Given the description of an element on the screen output the (x, y) to click on. 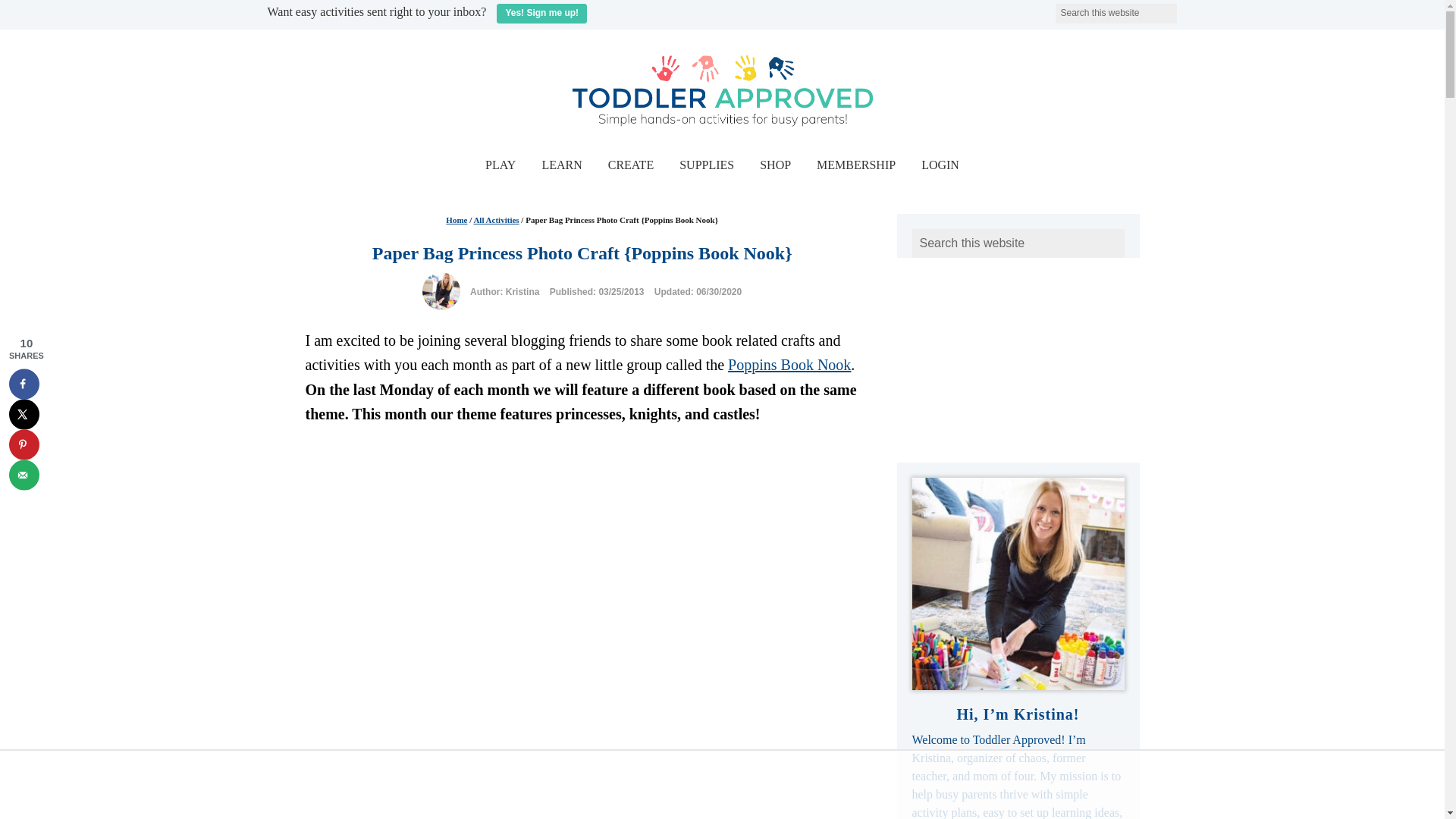
Send over email (23, 474)
Search (1185, 8)
Share on X (23, 413)
Save to Pinterest (23, 444)
Yes! Sign me up! (541, 13)
Search (1185, 8)
Share on Facebook (23, 383)
